Given the description of an element on the screen output the (x, y) to click on. 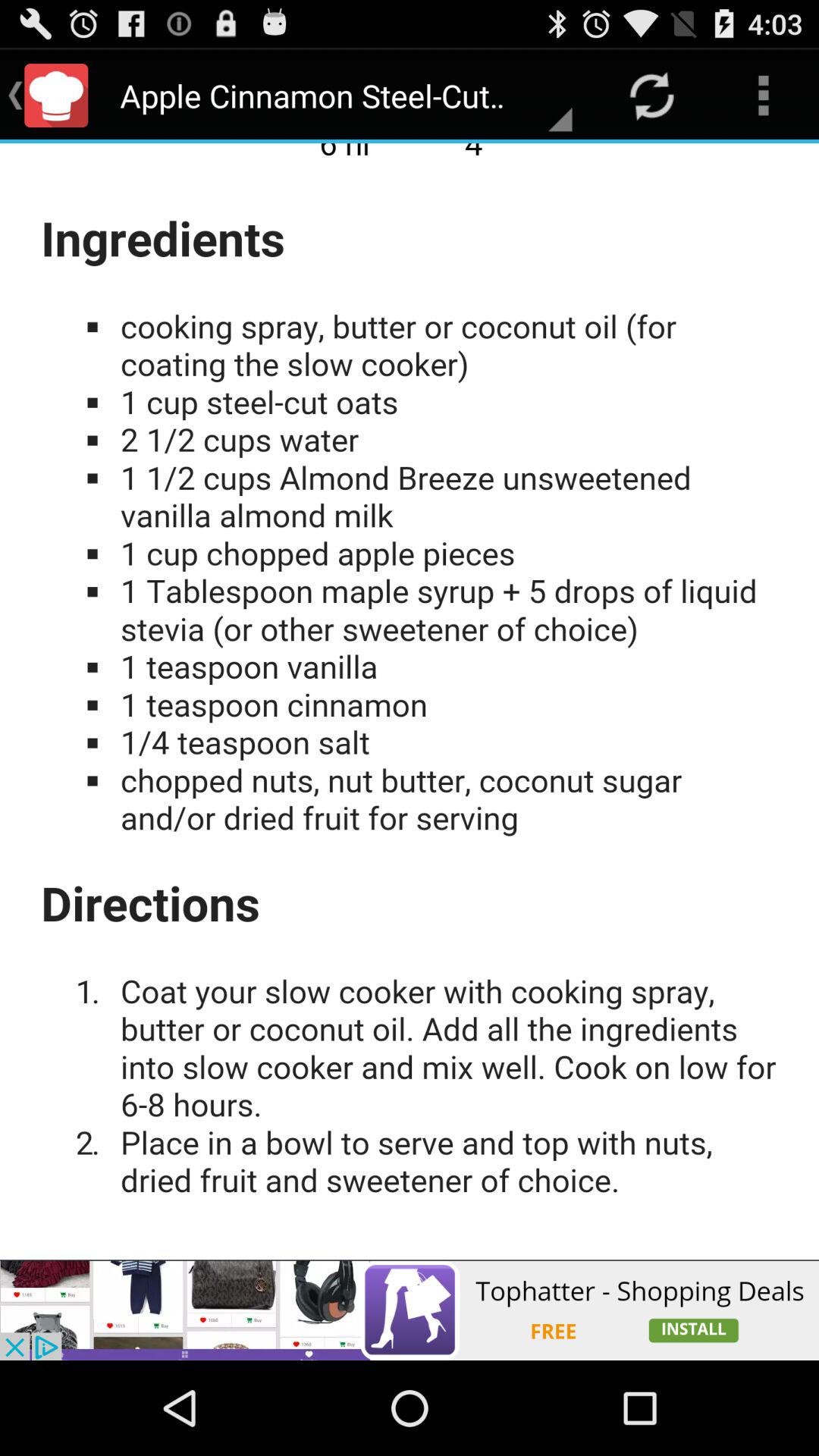
advertisement (409, 1310)
